Given the description of an element on the screen output the (x, y) to click on. 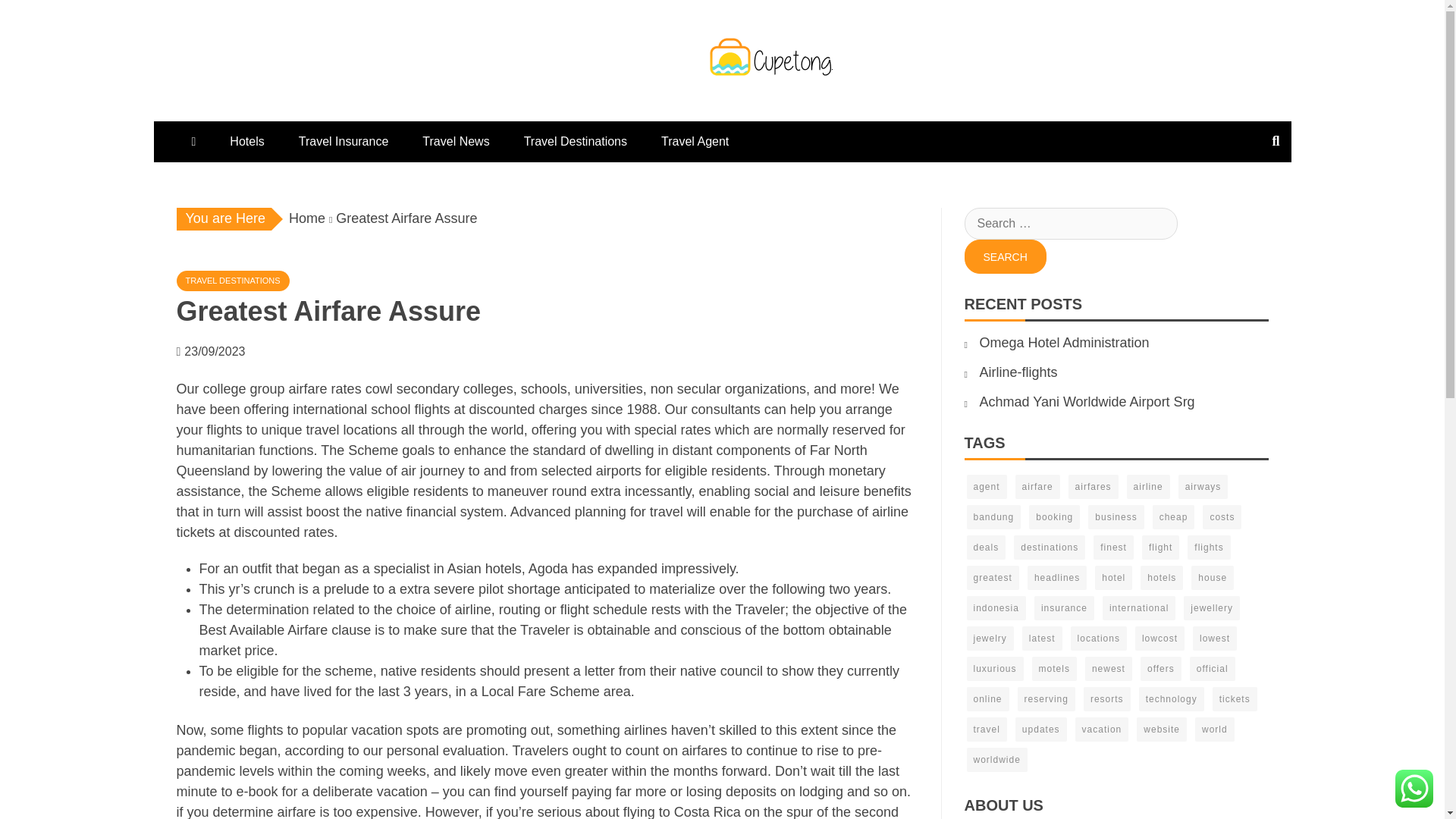
Travel Destinations (575, 141)
CPT (604, 104)
deals (986, 547)
Travel Insurance (343, 141)
booking (1054, 517)
Search (1004, 256)
agent (986, 486)
Achmad Yani Worldwide Airport Srg (1087, 401)
destinations (1048, 547)
bandung (993, 517)
Search (1004, 256)
TRAVEL DESTINATIONS (232, 281)
airfares (1093, 486)
Hotels (246, 141)
Search (1004, 256)
